Given the description of an element on the screen output the (x, y) to click on. 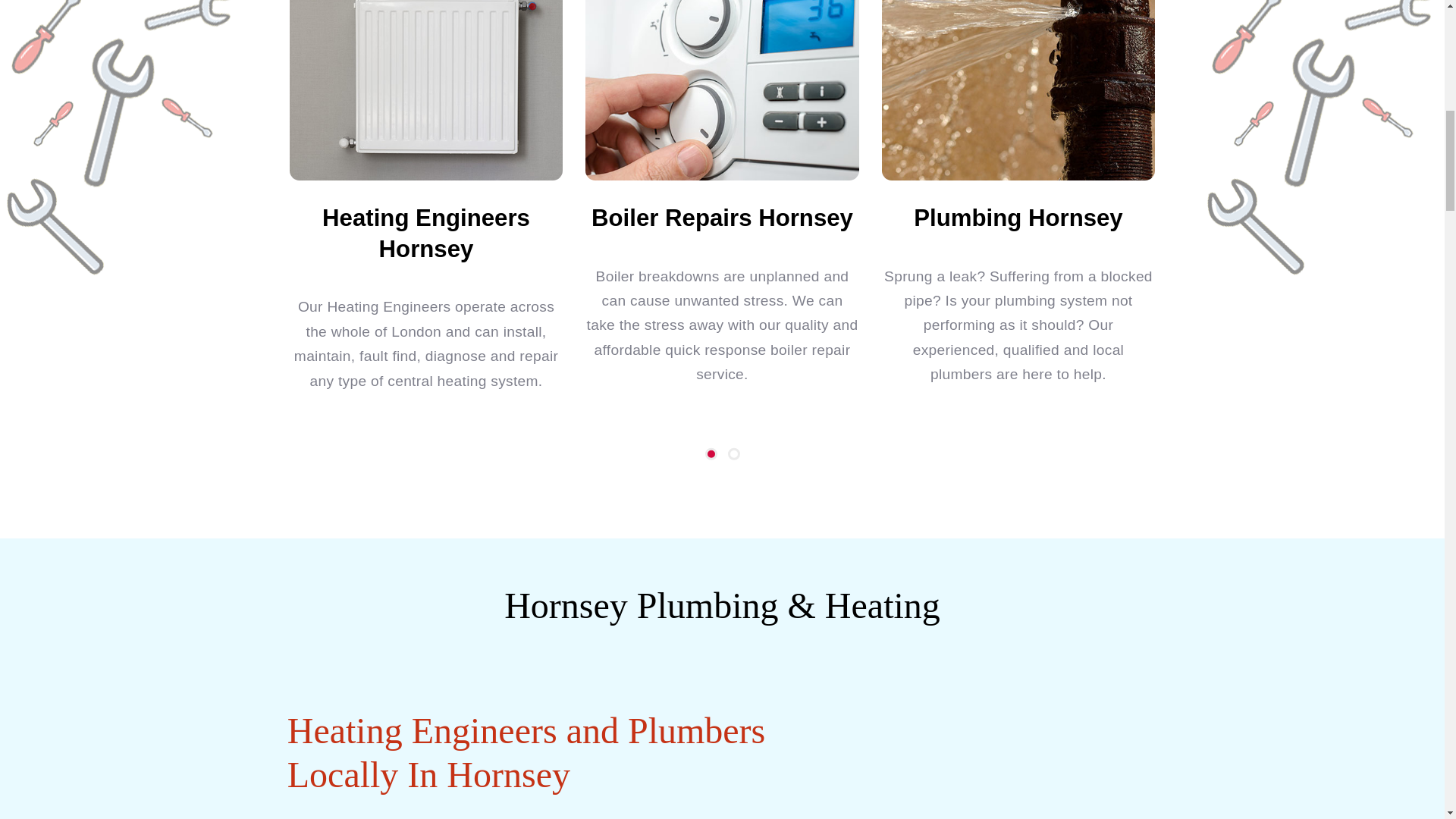
central-heating-repairs-london (425, 90)
boiler-repair-install-london (722, 90)
london-plumbers (1018, 90)
